Given the description of an element on the screen output the (x, y) to click on. 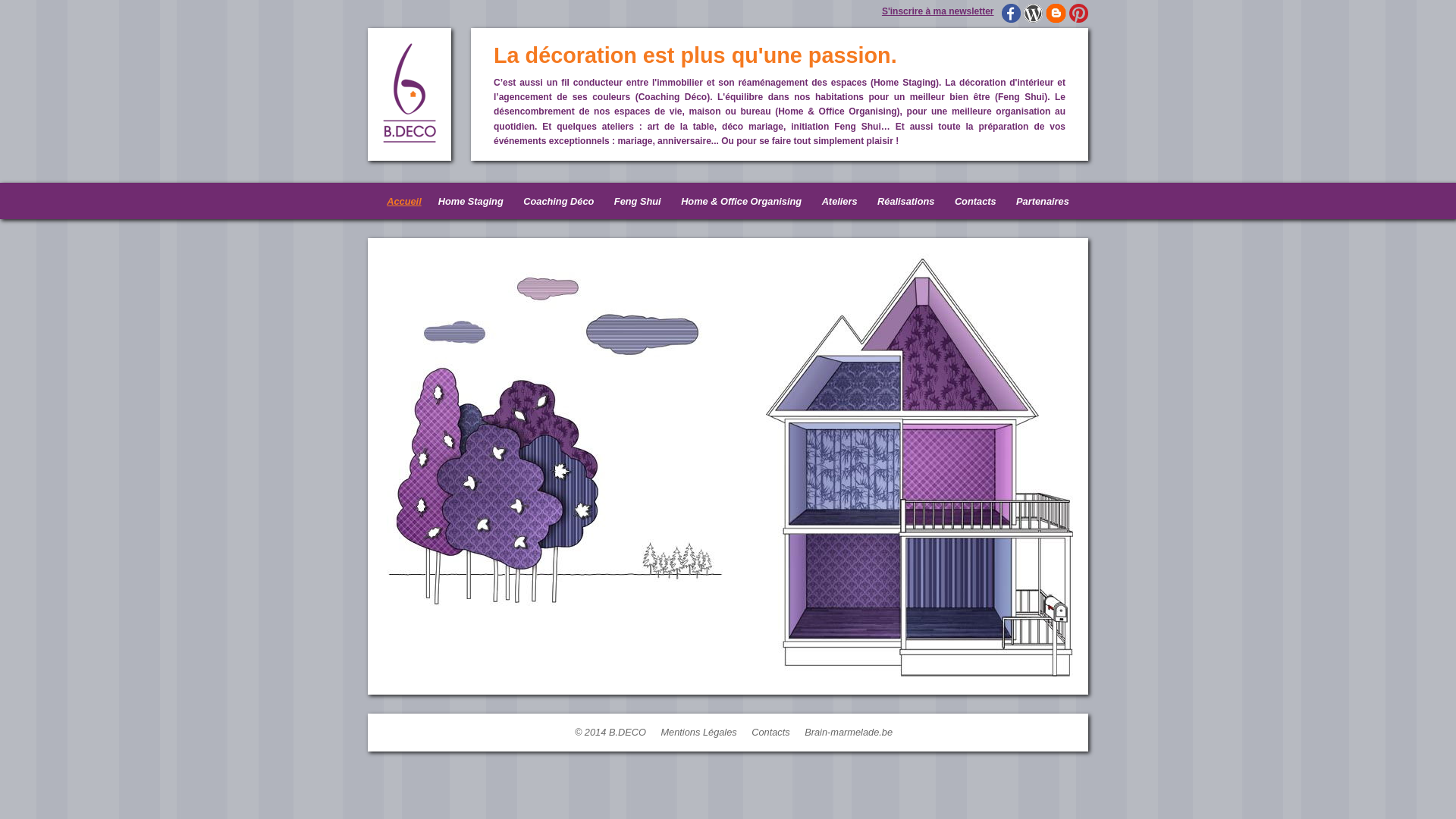
Contacts Element type: text (975, 201)
Feng Shui Element type: text (637, 201)
Ateliers Element type: text (839, 201)
Home Staging Element type: text (470, 201)
Accueil Element type: text (403, 201)
Contacts Element type: text (770, 731)
Partenaires Element type: text (1042, 201)
Brain-marmelade.be Element type: text (848, 731)
Home & Office Organising Element type: text (740, 201)
